Given the description of an element on the screen output the (x, y) to click on. 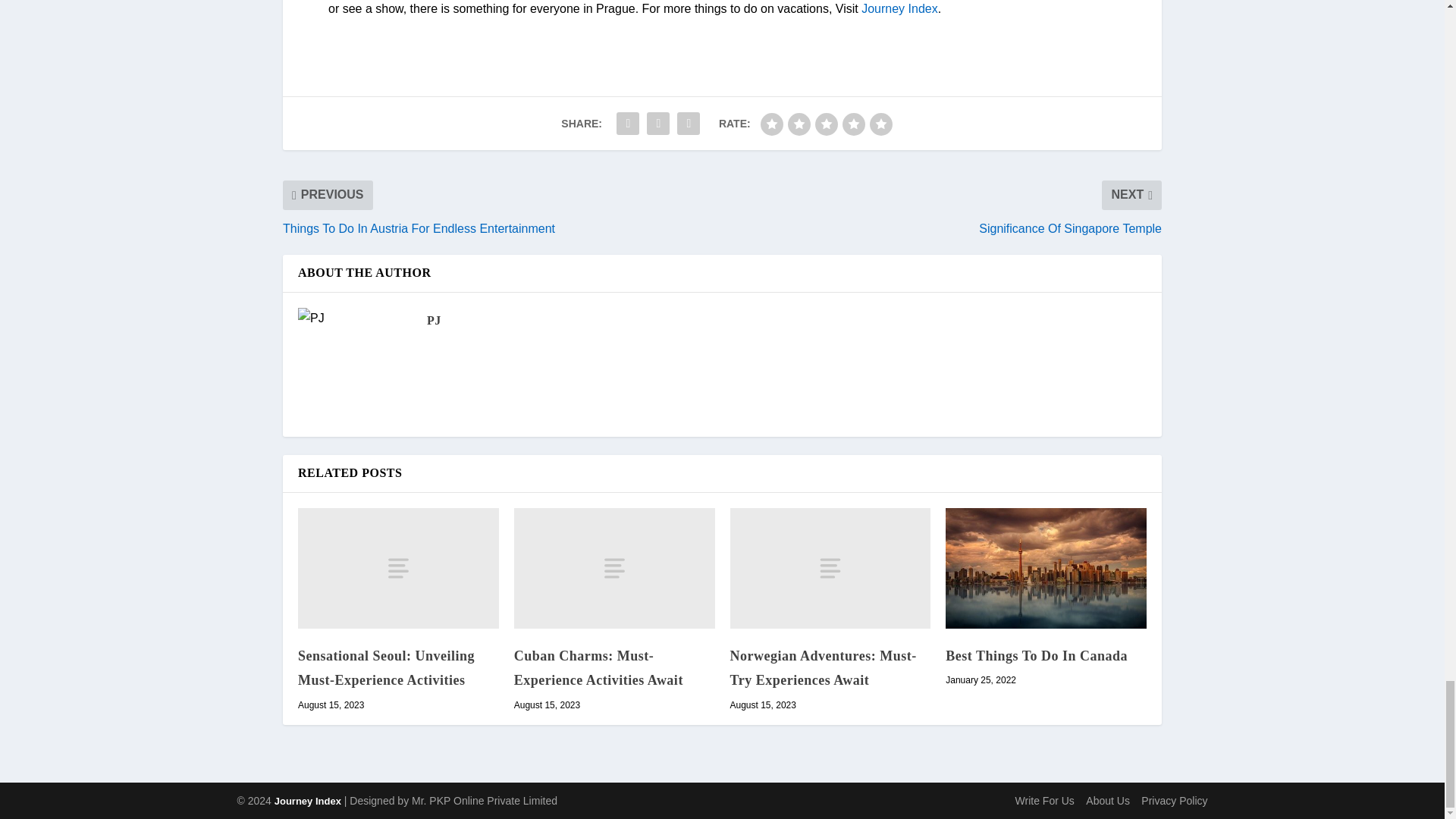
bad (771, 124)
regular (826, 124)
poor (798, 124)
Share "Best Things To Do In Prague" via Facebook (627, 123)
gorgeous (880, 124)
View all posts by PJ (433, 319)
good (853, 124)
Journey Index (899, 8)
Share "Best Things To Do In Prague" via Twitter (657, 123)
Share "Best Things To Do In Prague" via Pinterest (687, 123)
